Given the description of an element on the screen output the (x, y) to click on. 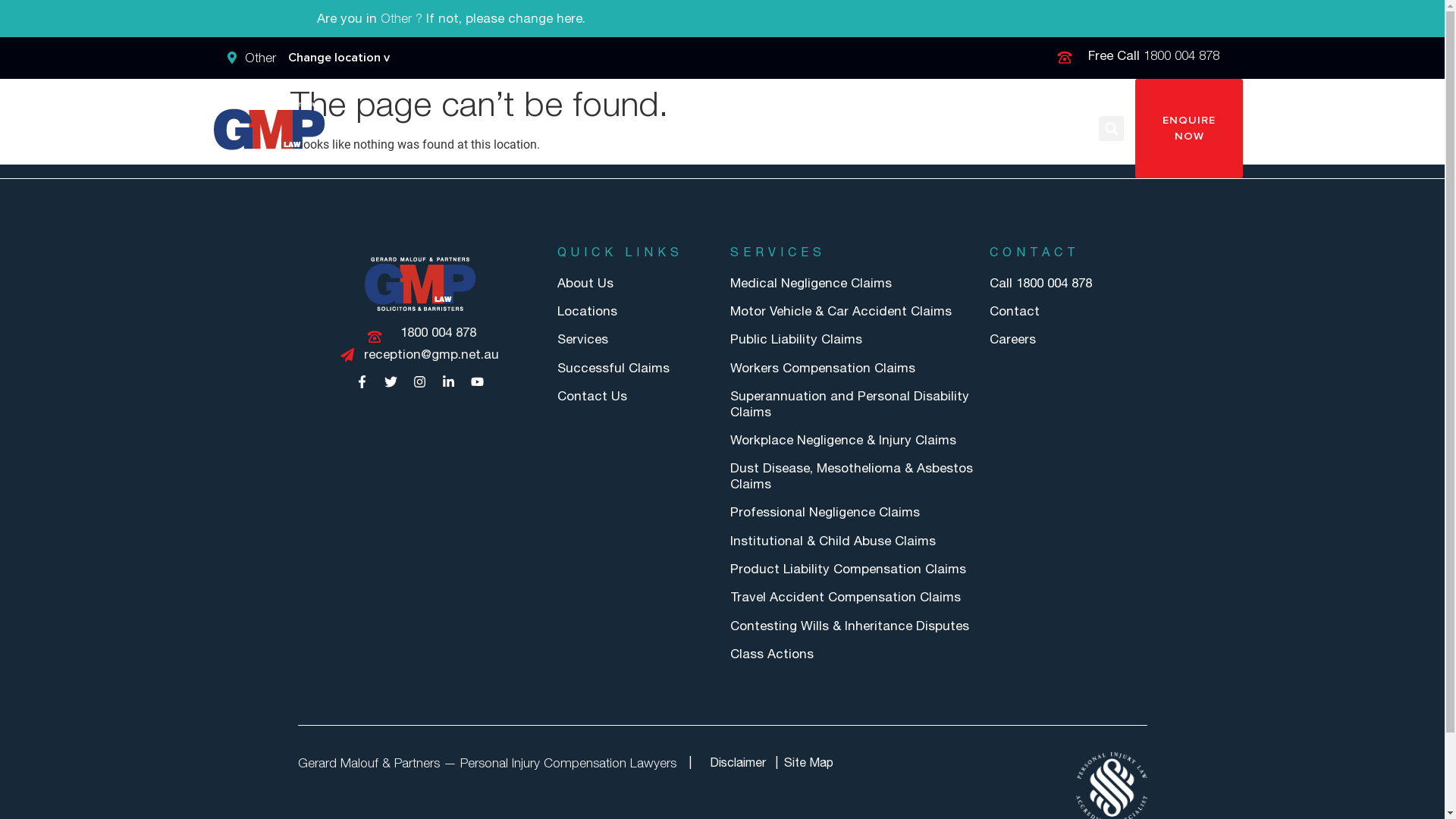
Superannuation and Personal Disability Claims Element type: text (851, 403)
Successful Claims Element type: text (635, 367)
Workplace Negligence & Injury Claims Element type: text (851, 439)
Services Element type: text (635, 338)
Site Map Element type: text (808, 762)
Free Guide Element type: text (569, 128)
Motor Vehicle & Car Accident Claims Element type: text (851, 310)
Call 1800 004 878 Element type: text (1067, 282)
Class Actions Element type: text (851, 653)
Workers Compensation Claims Element type: text (851, 367)
Public Liability Claims Element type: text (851, 338)
Professional Negligence Claims Element type: text (851, 511)
Resources Element type: text (981, 128)
Careers Element type: text (1067, 338)
Medical Negligence Claims Element type: text (851, 282)
ENQUIRE
NOW Element type: text (1188, 128)
Locations Element type: text (635, 310)
1800 004 878 Element type: text (419, 332)
Dust Disease, Mesothelioma & Asbestos Claims Element type: text (851, 475)
Contact Element type: text (1061, 128)
About Us Element type: text (729, 128)
Disclaimer Element type: text (737, 762)
Class Actions Element type: text (468, 128)
About Us Element type: text (635, 282)
Product Liability Compensation Claims Element type: text (851, 568)
reception@gmp.net.au Element type: text (419, 354)
Locations Element type: text (811, 128)
Contact Us Element type: text (635, 395)
Institutional & Child Abuse Claims Element type: text (851, 540)
Our Team Element type: text (895, 128)
Services Element type: text (651, 128)
Travel Accident Compensation Claims Element type: text (851, 596)
Contesting Wills & Inheritance Disputes Element type: text (851, 625)
Free Call 1800 004 878 Element type: text (1137, 55)
Contact Element type: text (1067, 310)
